Given the description of an element on the screen output the (x, y) to click on. 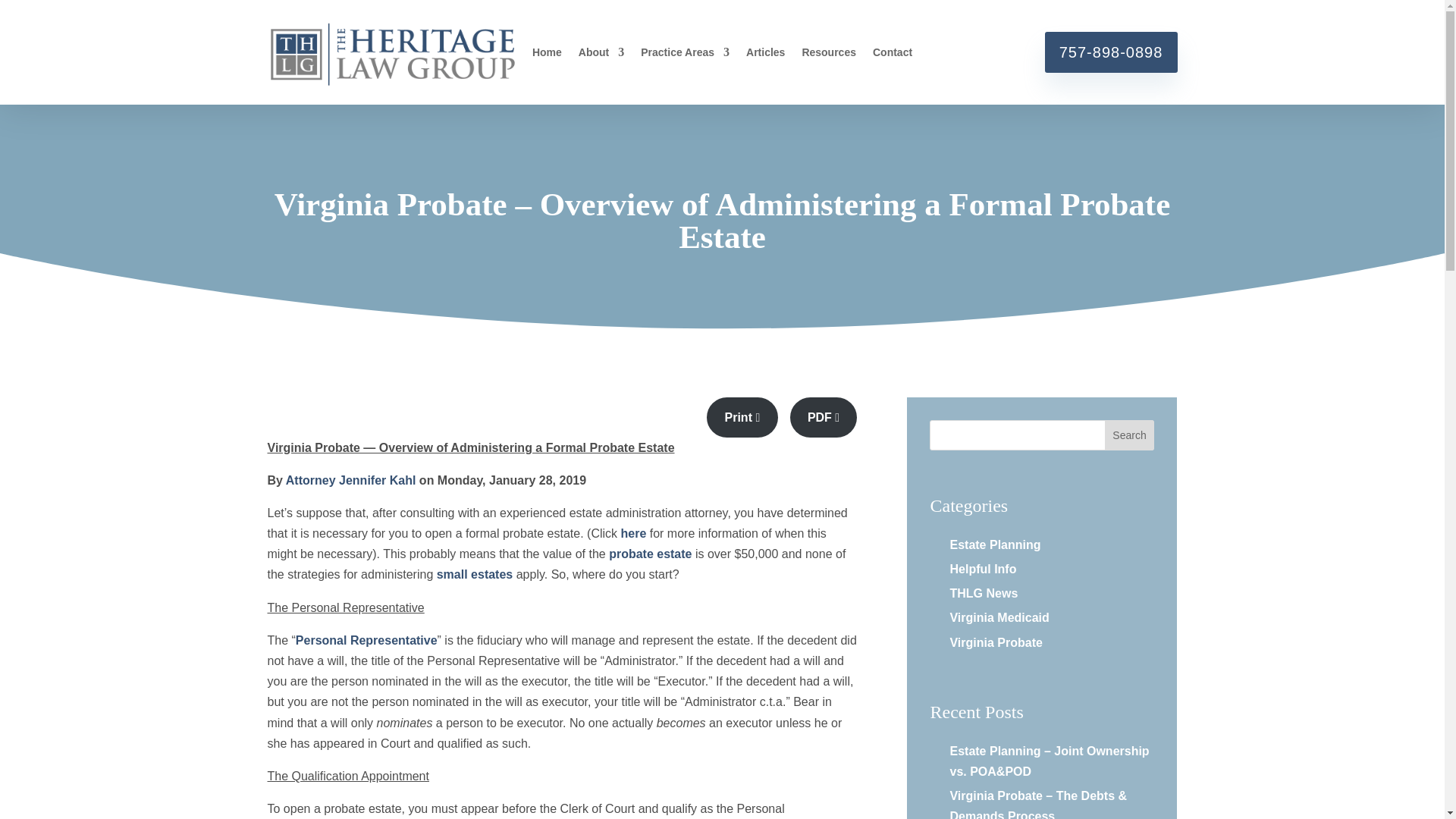
logo (391, 52)
Contact (892, 54)
small estates (474, 574)
THLG News (983, 593)
Search (1129, 435)
Estate Planning (995, 544)
Articles (764, 54)
here (633, 533)
Search (1129, 435)
Personal Representative (366, 640)
Resources (829, 54)
probate estate (649, 553)
About (601, 54)
Helpful Info (982, 568)
757-898-0898 (1111, 51)
